Given the description of an element on the screen output the (x, y) to click on. 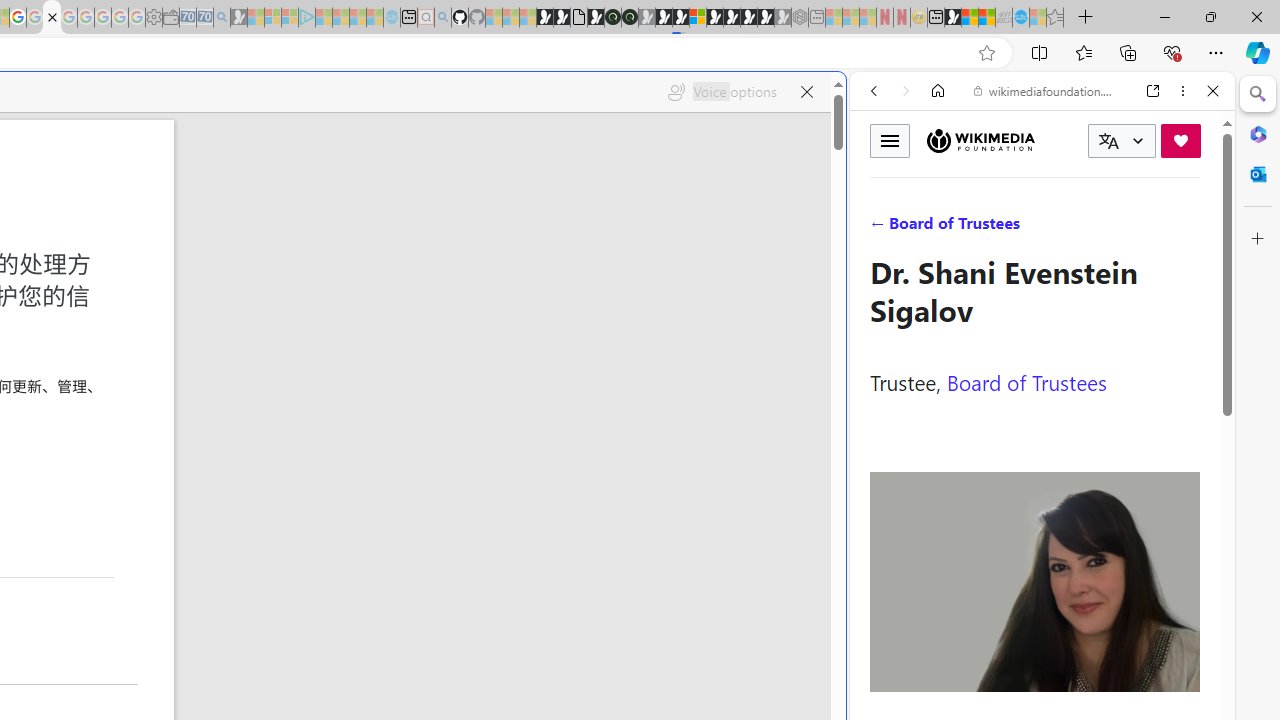
Wallet - Sleeping (170, 17)
Settings - Sleeping (153, 17)
More options (1182, 91)
Services - Maintenance | Sky Blue Bikes - Sky Blue Bikes (1020, 17)
Play Zoo Boom in your browser | Games from Microsoft Start (561, 17)
Play Free Online Games | Games from Microsoft Start (731, 17)
Sign in to your account (697, 17)
Forward (906, 91)
Donate now (1180, 140)
Browser essentials (1171, 52)
Minimize (1164, 16)
google_privacy_policy_zh-CN.pdf (51, 17)
Search Filter, VIDEOS (1006, 228)
